Given the description of an element on the screen output the (x, y) to click on. 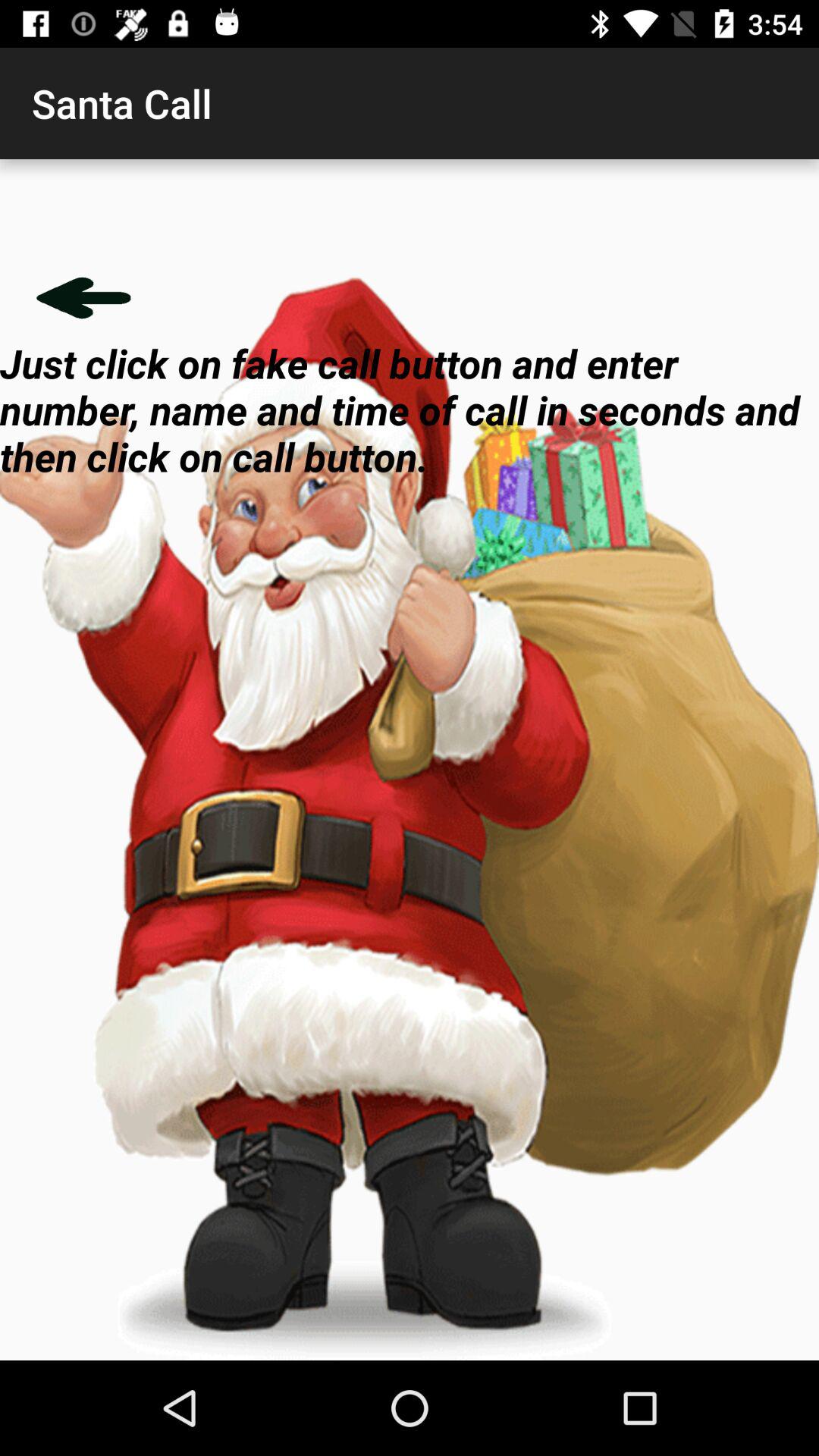
go back (83, 297)
